Given the description of an element on the screen output the (x, y) to click on. 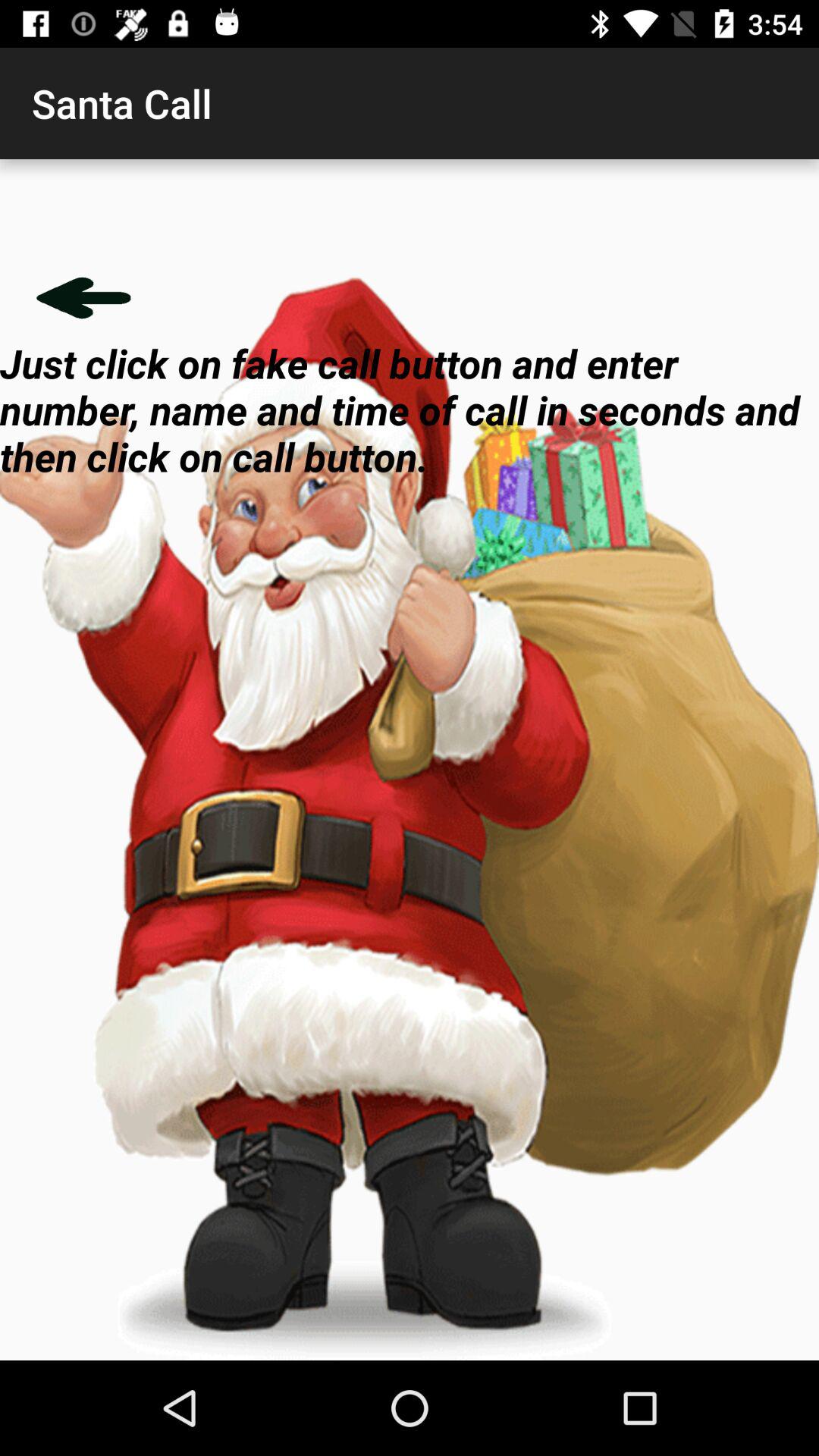
go back (83, 297)
